Given the description of an element on the screen output the (x, y) to click on. 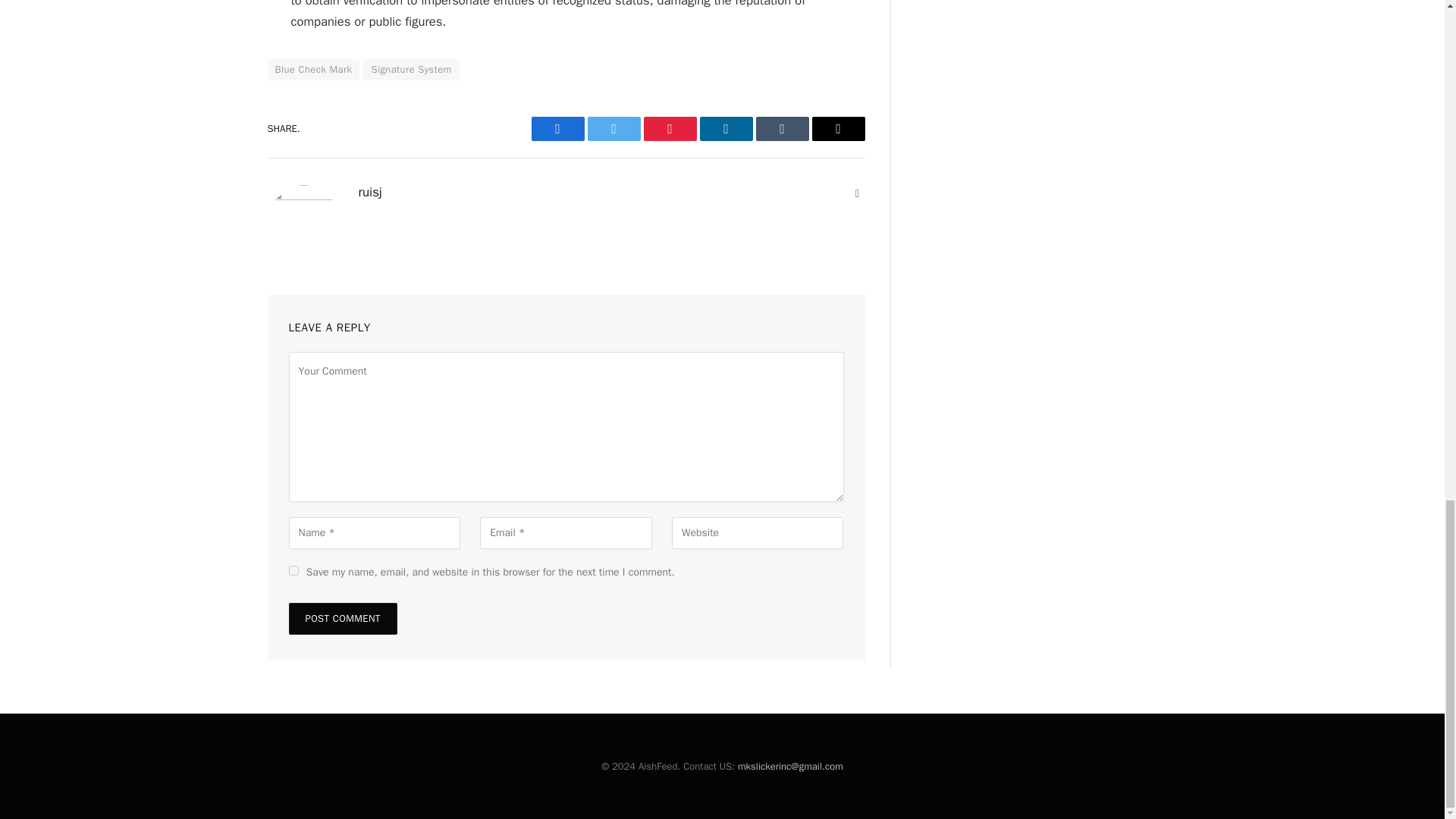
Twitter (613, 128)
Signature System (410, 69)
yes (293, 570)
Blue Check Mark (312, 69)
Facebook (557, 128)
Post Comment (342, 618)
